Given the description of an element on the screen output the (x, y) to click on. 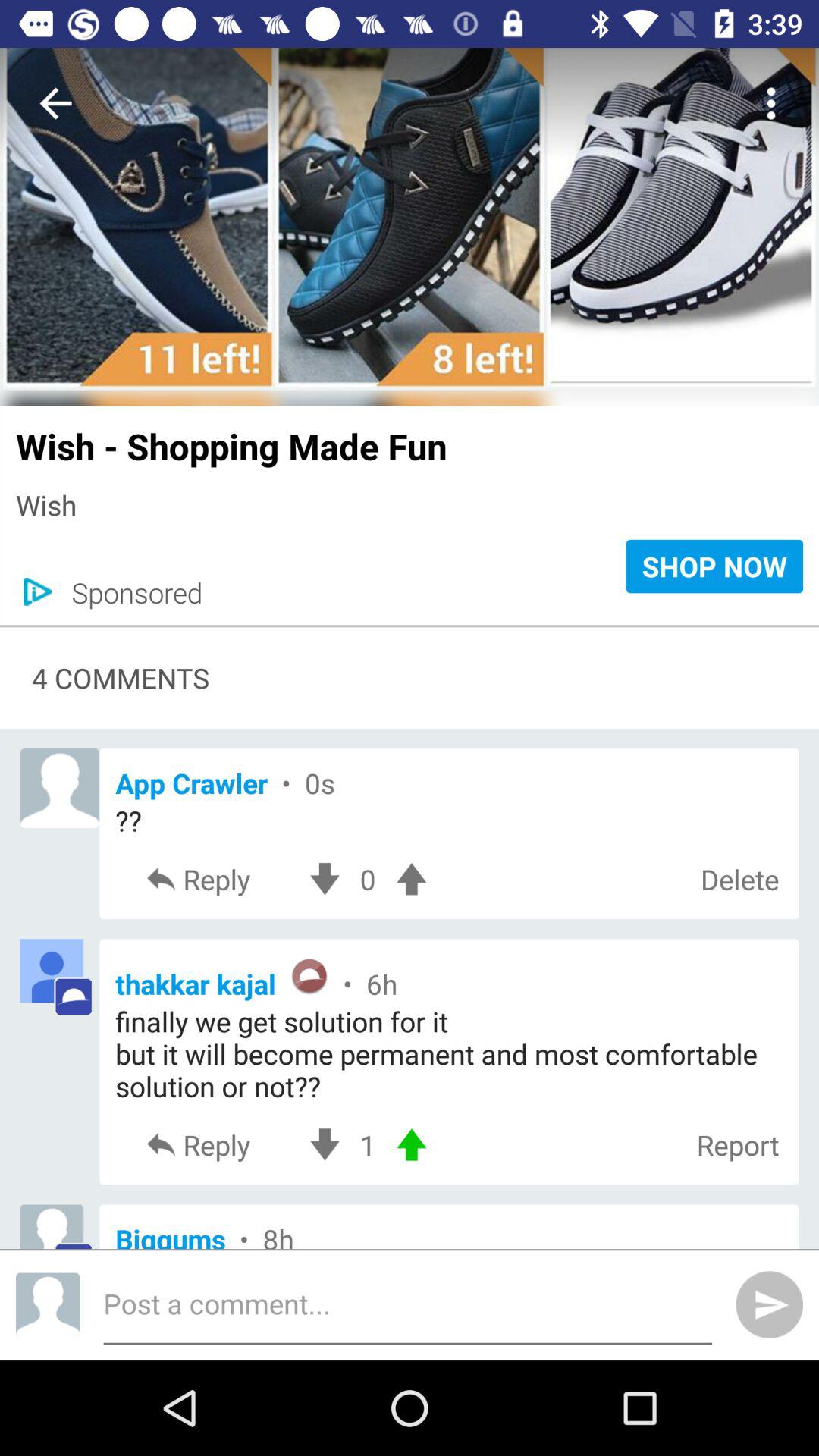
turn on the item below sponsored icon (409, 626)
